Given the description of an element on the screen output the (x, y) to click on. 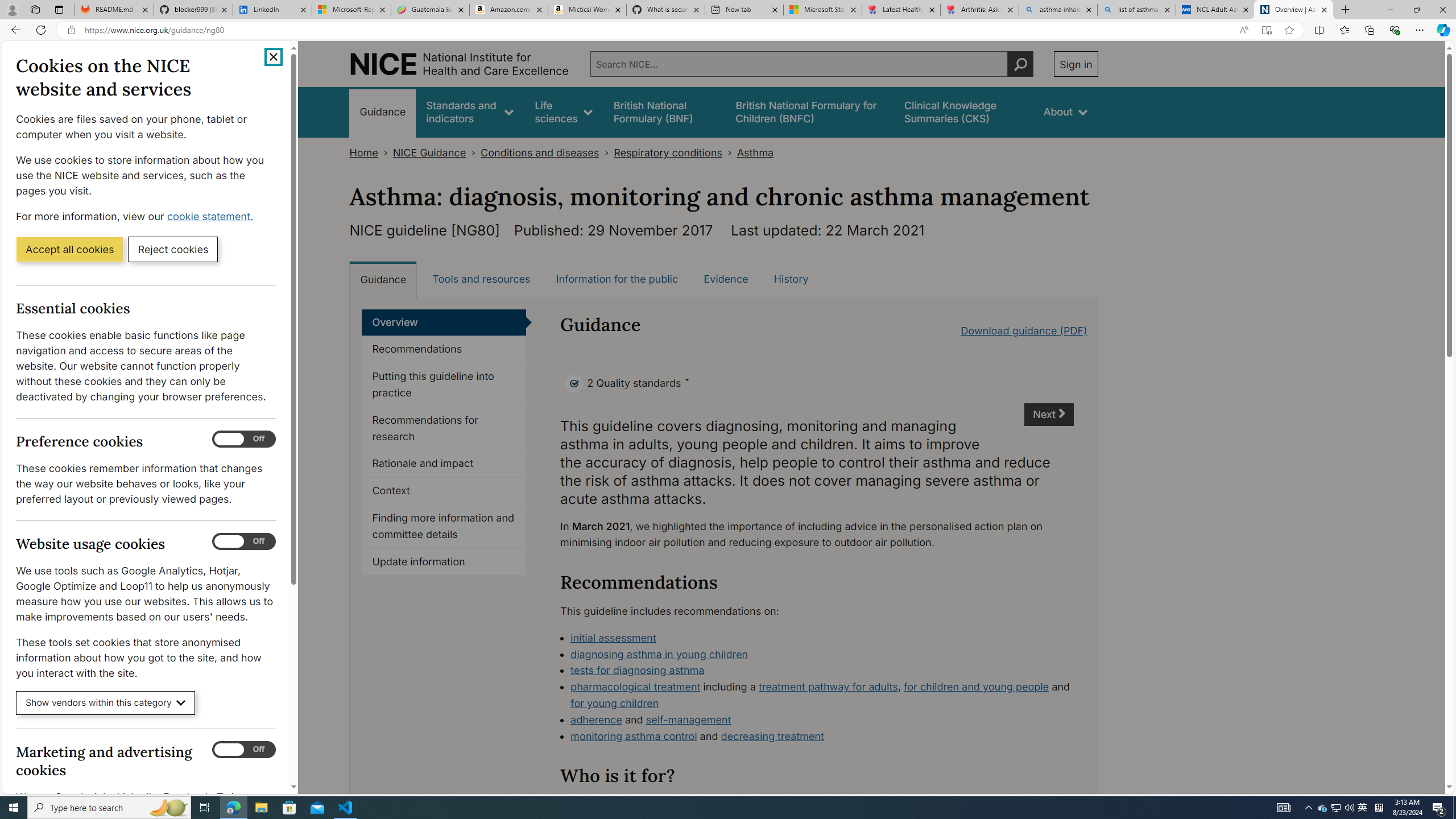
Preference cookies (243, 438)
monitoring asthma control and decreasing treatment (822, 736)
Home> (371, 152)
Tools and resources (481, 279)
Show vendors within this category (105, 703)
cookie statement. (Opens in a new window) (211, 215)
Download guidance (PDF) (1023, 330)
Overview (444, 321)
Conditions and diseases (539, 152)
Marketing and advertising cookies (243, 749)
